Given the description of an element on the screen output the (x, y) to click on. 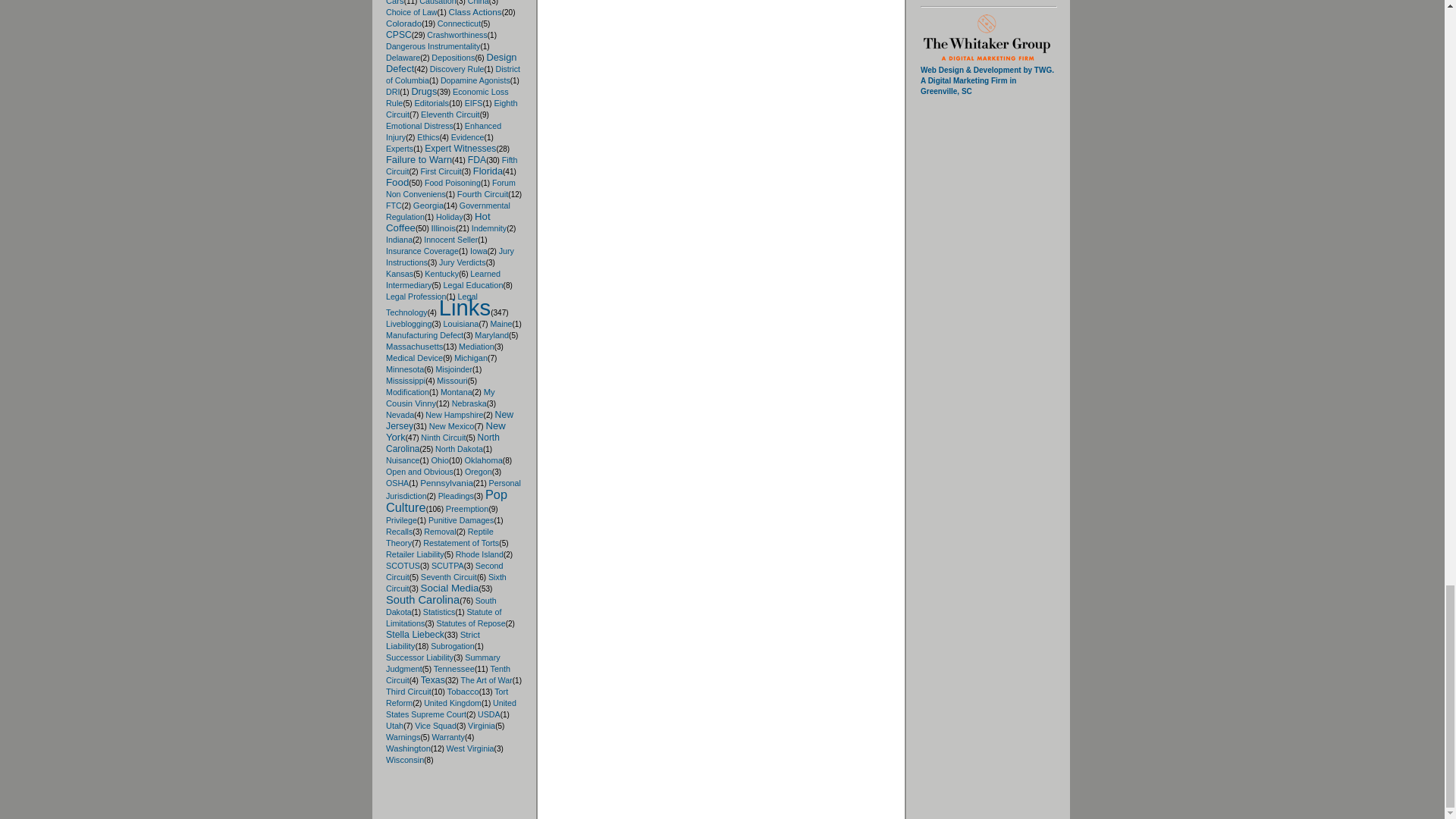
Choice of Law (411, 11)
Class Actions (475, 11)
Causation (437, 2)
China (478, 2)
Cars (394, 2)
